Given the description of an element on the screen output the (x, y) to click on. 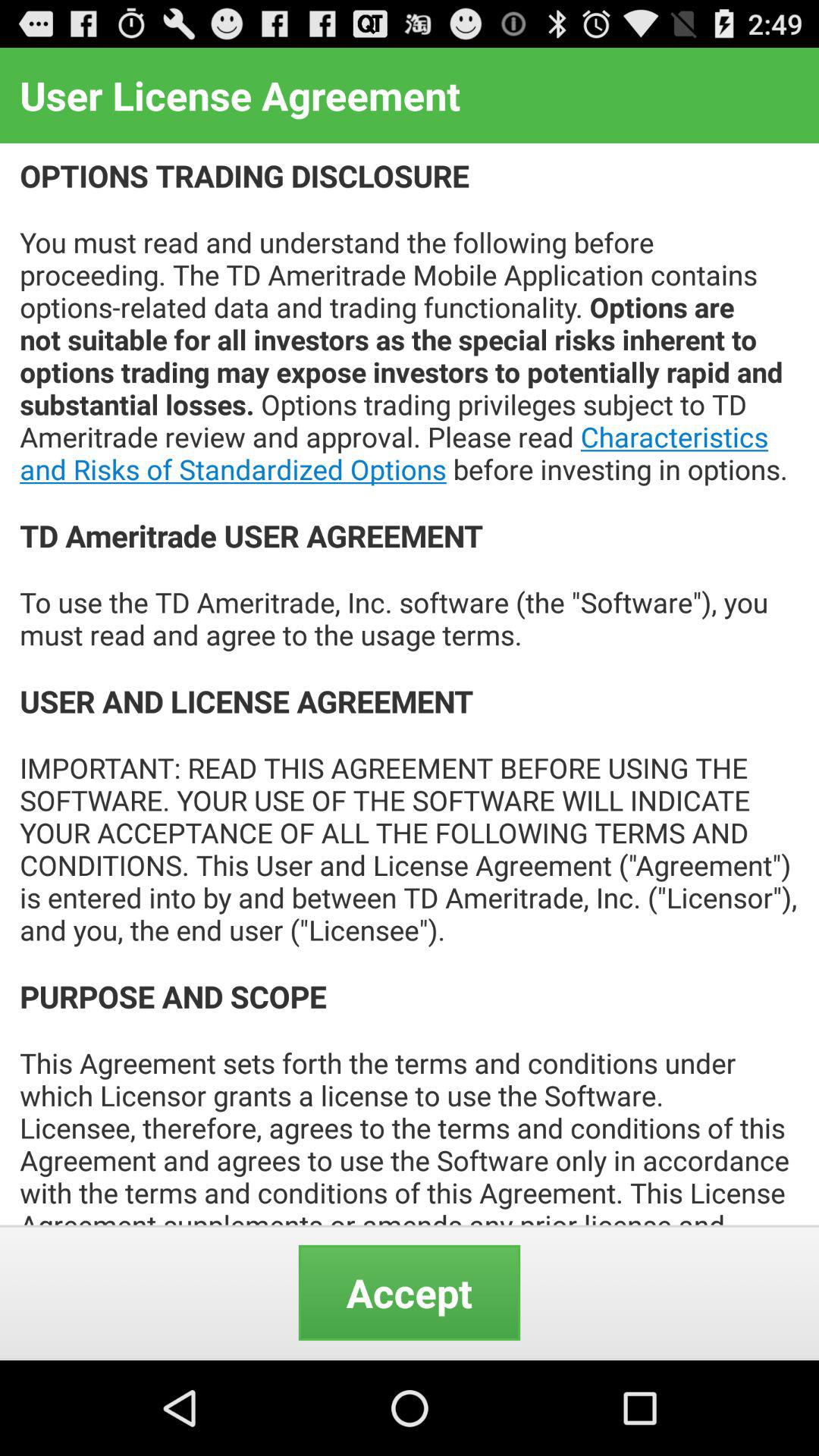
open button above accept (409, 684)
